Given the description of an element on the screen output the (x, y) to click on. 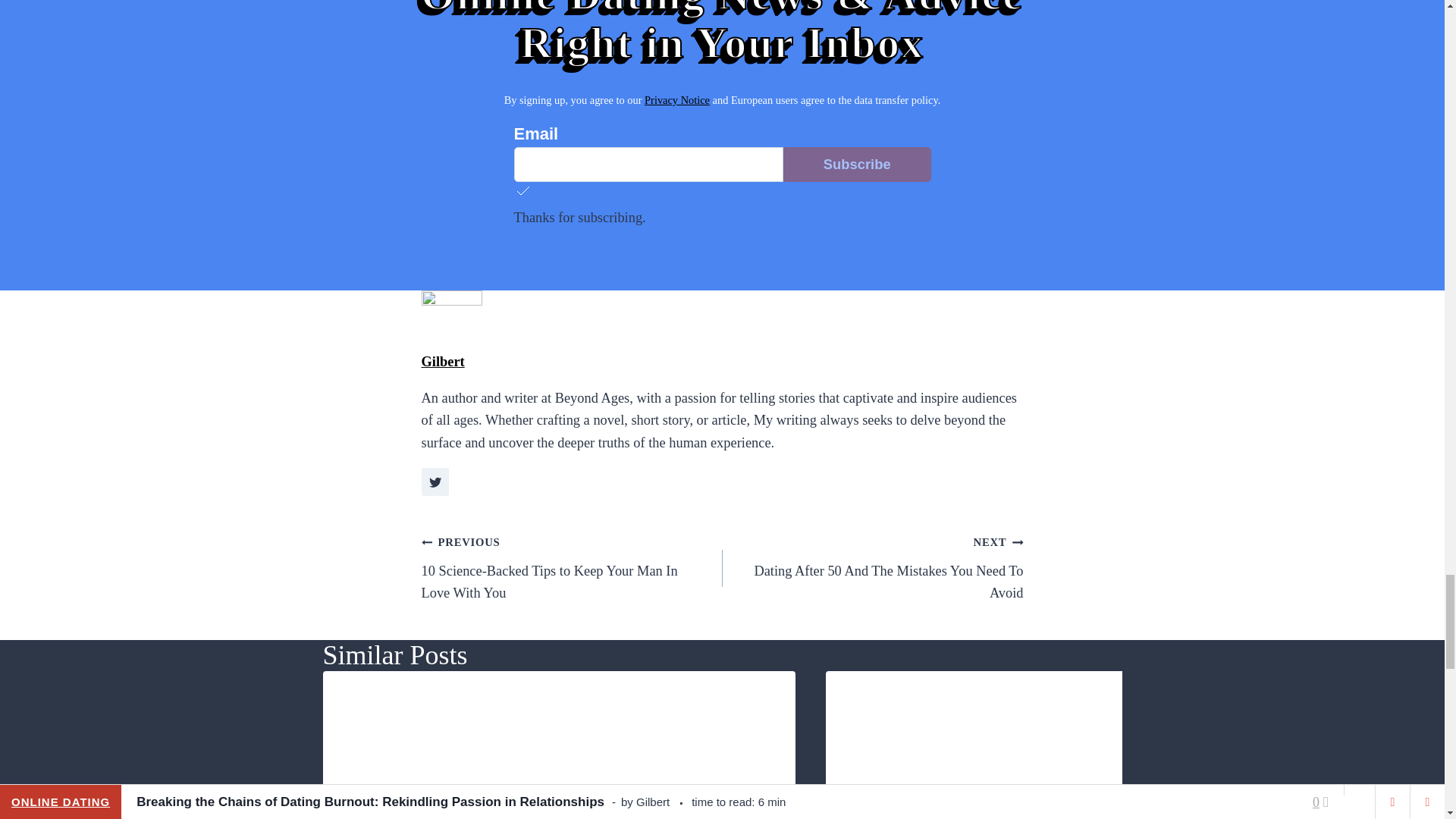
Follow Gilbert on Twitter (435, 481)
